Given the description of an element on the screen output the (x, y) to click on. 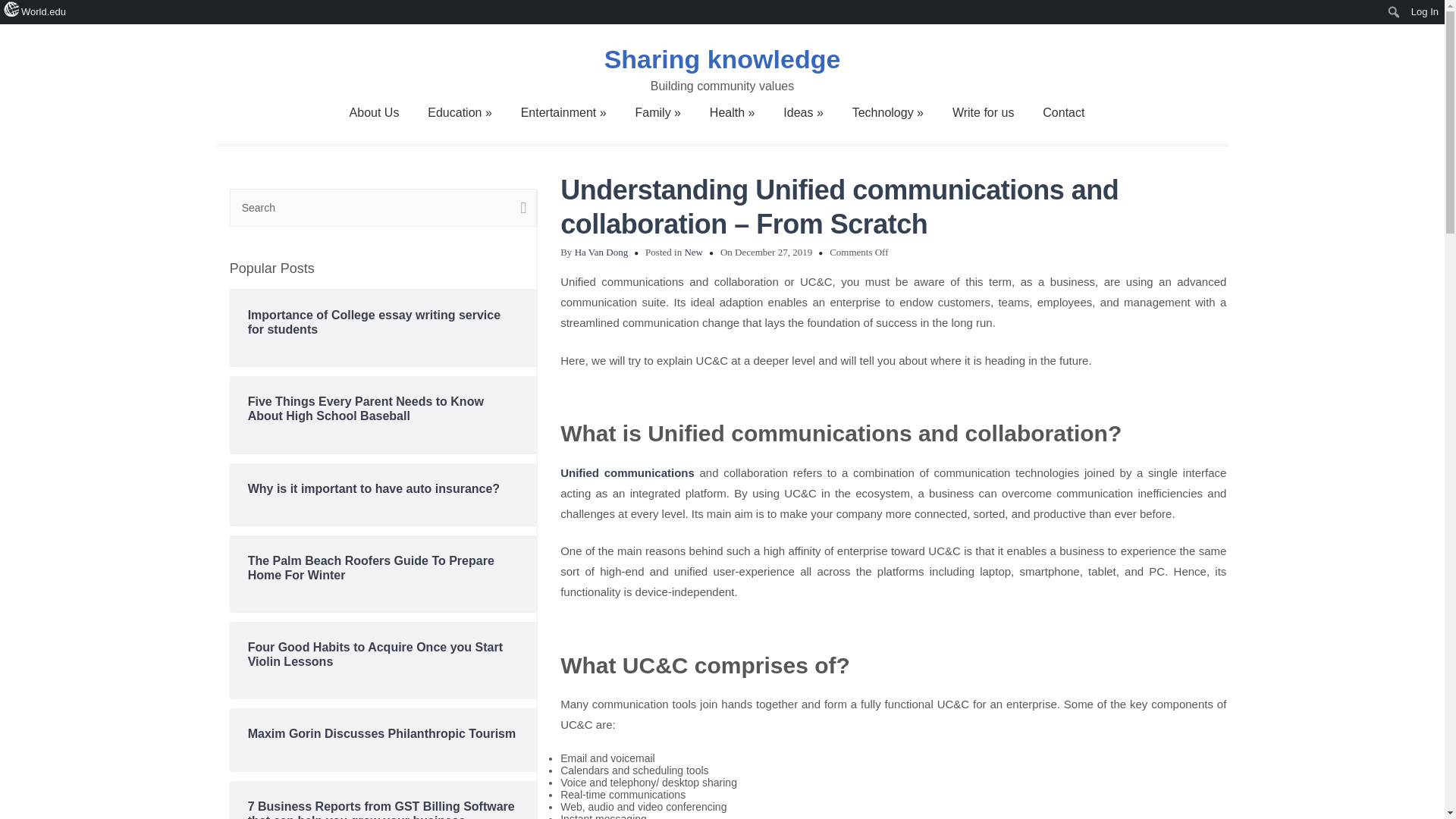
Maxim Gorin Discusses Philanthropic Tourism (383, 733)
About Us (374, 112)
Write for us (983, 112)
Why is it important to have auto insurance? (383, 488)
The Palm Beach Roofers Guide To Prepare Home For Winter (383, 567)
Search (519, 207)
Sharing knowledge (722, 59)
Search (383, 207)
Posts by Ha Van Dong (601, 251)
Search (519, 207)
Four Good Habits to Acquire Once you Start Violin Lessons (383, 654)
Importance of College essay writing service for students (383, 321)
Contact (1063, 112)
